Given the description of an element on the screen output the (x, y) to click on. 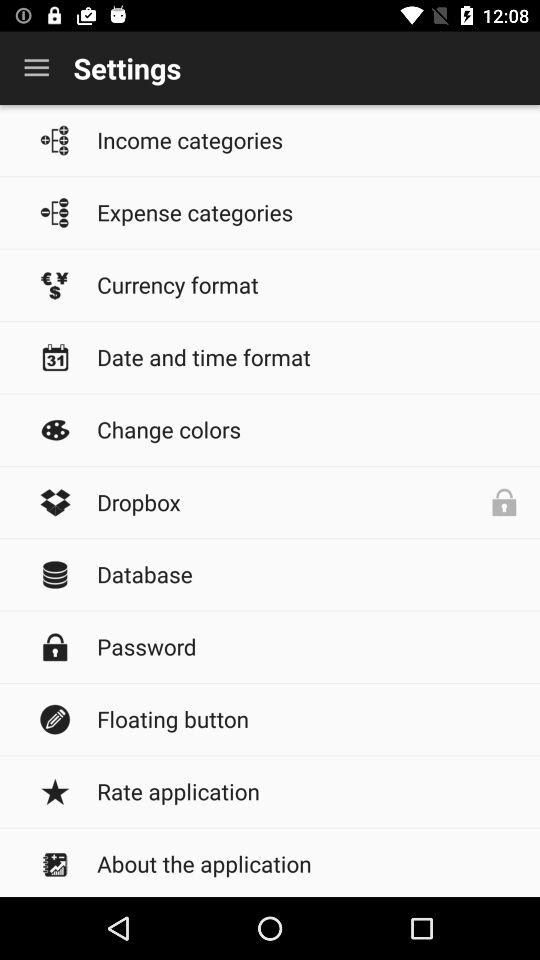
turn on the icon above the rate application icon (308, 718)
